Given the description of an element on the screen output the (x, y) to click on. 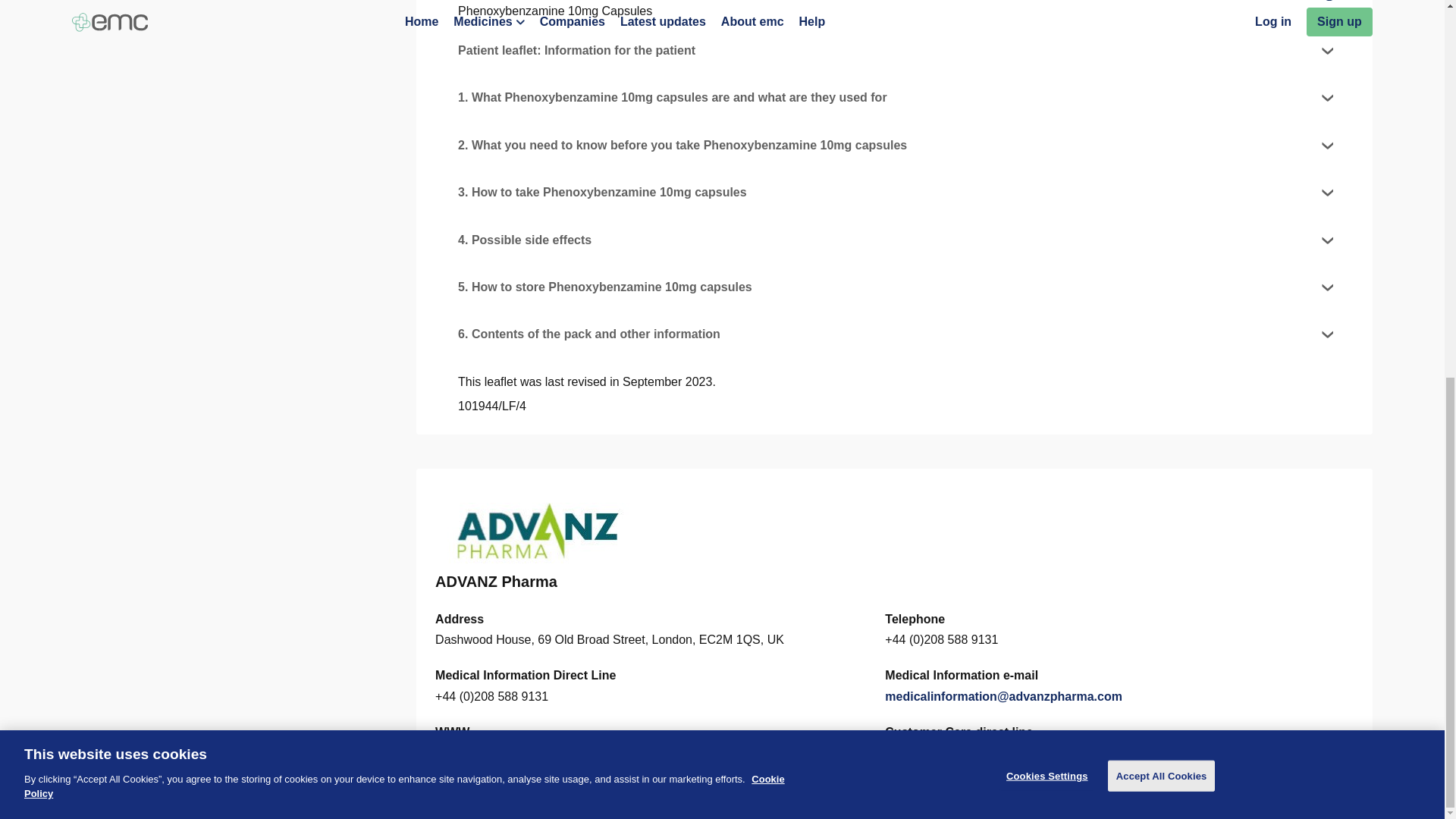
Cookies Settings (437, 799)
Glossary (517, 799)
Legal and privacy policy (320, 799)
www.advanzpharma.com (507, 753)
Links (154, 799)
Contact us (96, 799)
Accessibility (215, 799)
Expand All (1290, 1)
